Given the description of an element on the screen output the (x, y) to click on. 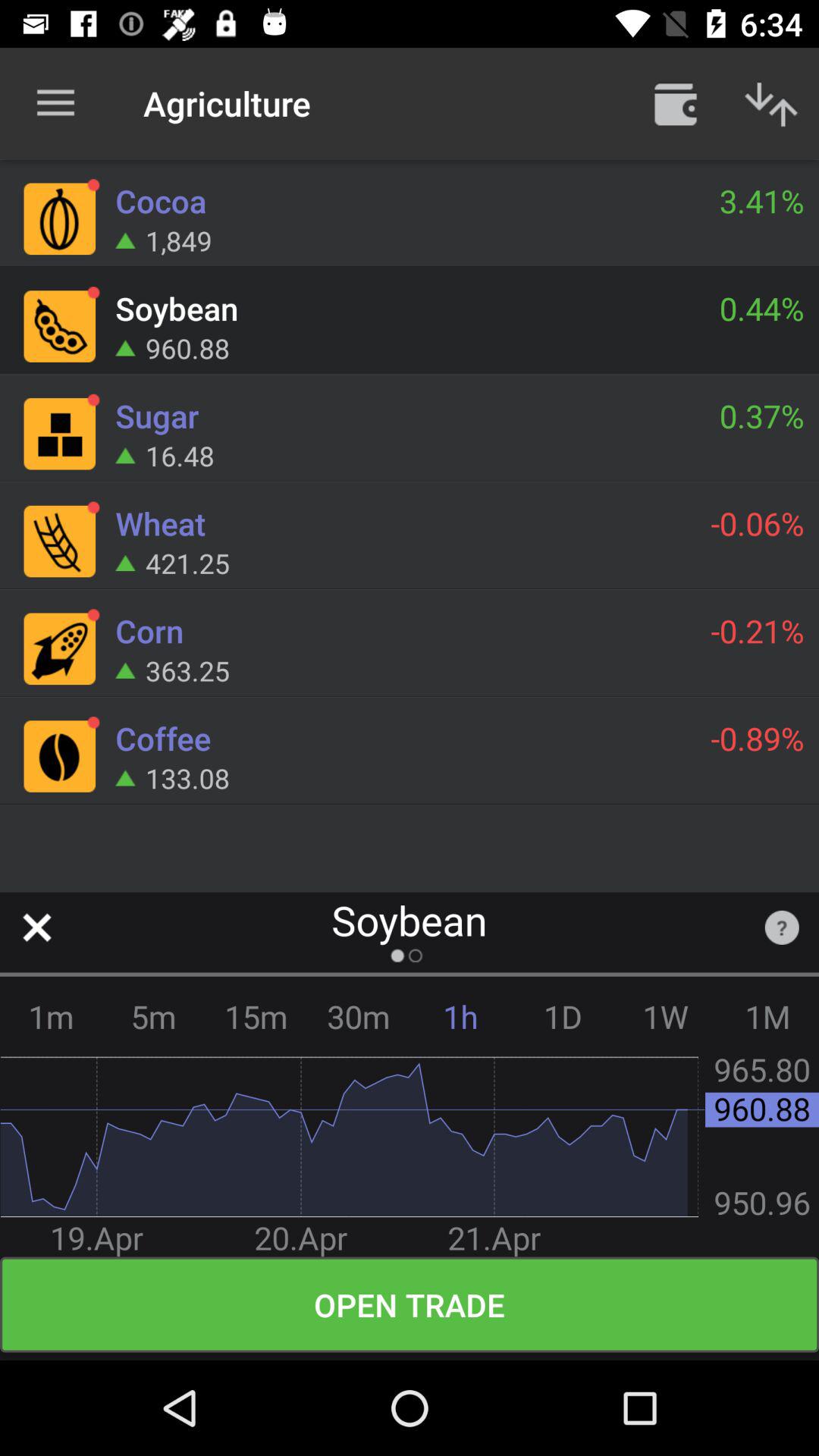
select the icon to the left of 30m icon (255, 1016)
